Given the description of an element on the screen output the (x, y) to click on. 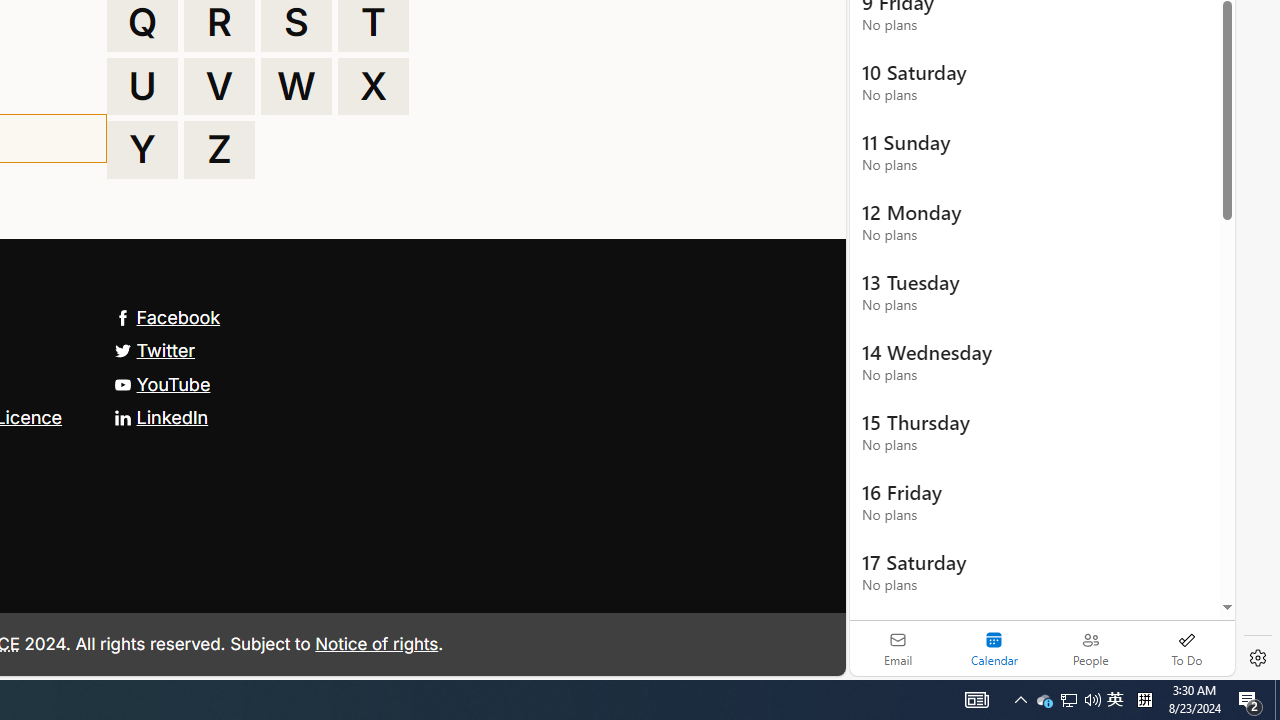
W (296, 85)
V (219, 85)
Selected calendar module. Date today is 22 (994, 648)
LinkedIn (160, 416)
Notice of rights (376, 642)
U (142, 85)
People (1090, 648)
V (219, 85)
X (373, 85)
To Do (1186, 648)
Z (219, 149)
